Given the description of an element on the screen output the (x, y) to click on. 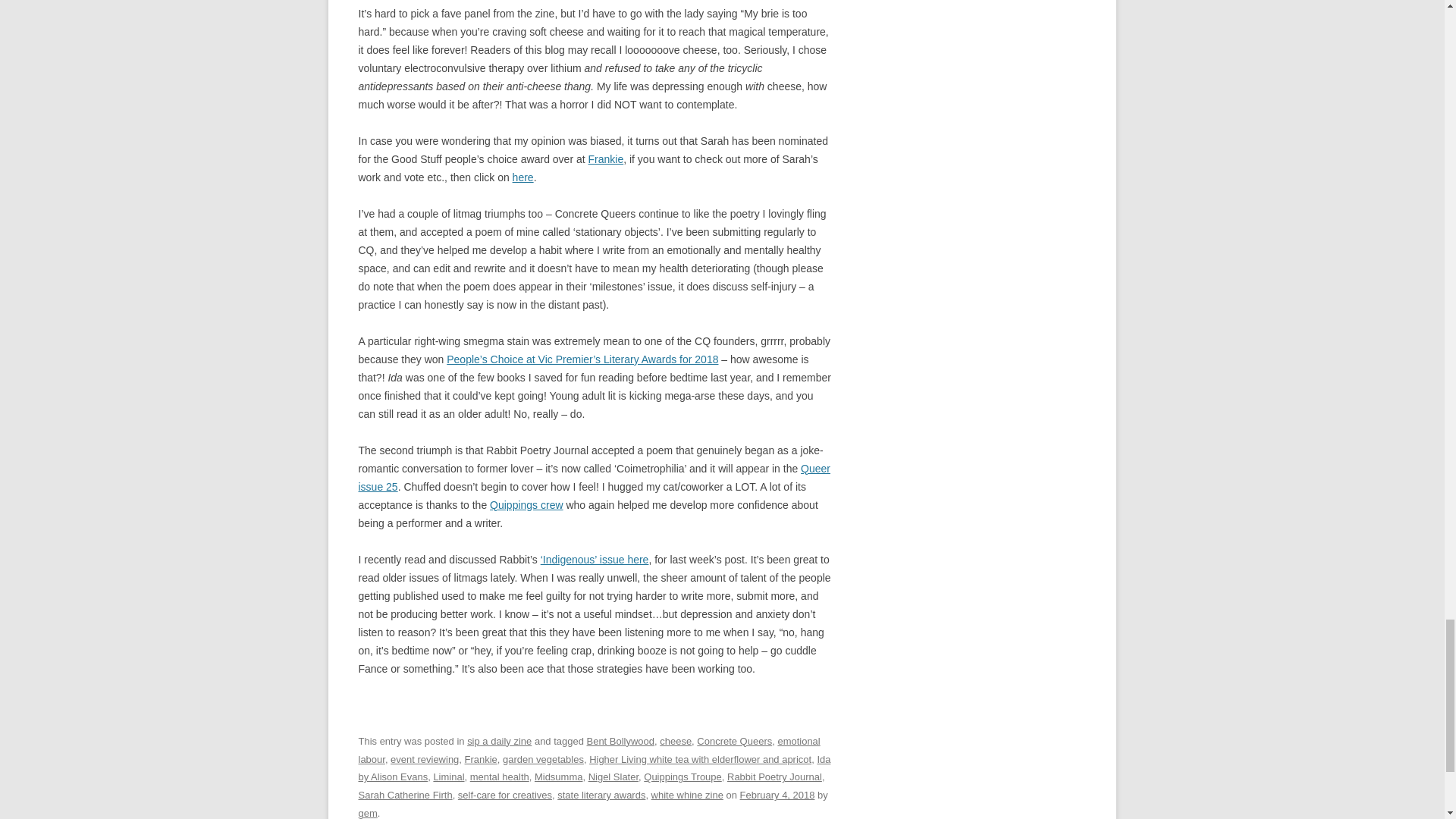
Queer issue 25 (593, 477)
sip a daily zine (499, 740)
View all posts by gem (367, 813)
22:21 (777, 794)
cheese (675, 740)
Frankie (606, 159)
Bent Bollywood (620, 740)
here (523, 177)
Quippings crew (526, 504)
